Given the description of an element on the screen output the (x, y) to click on. 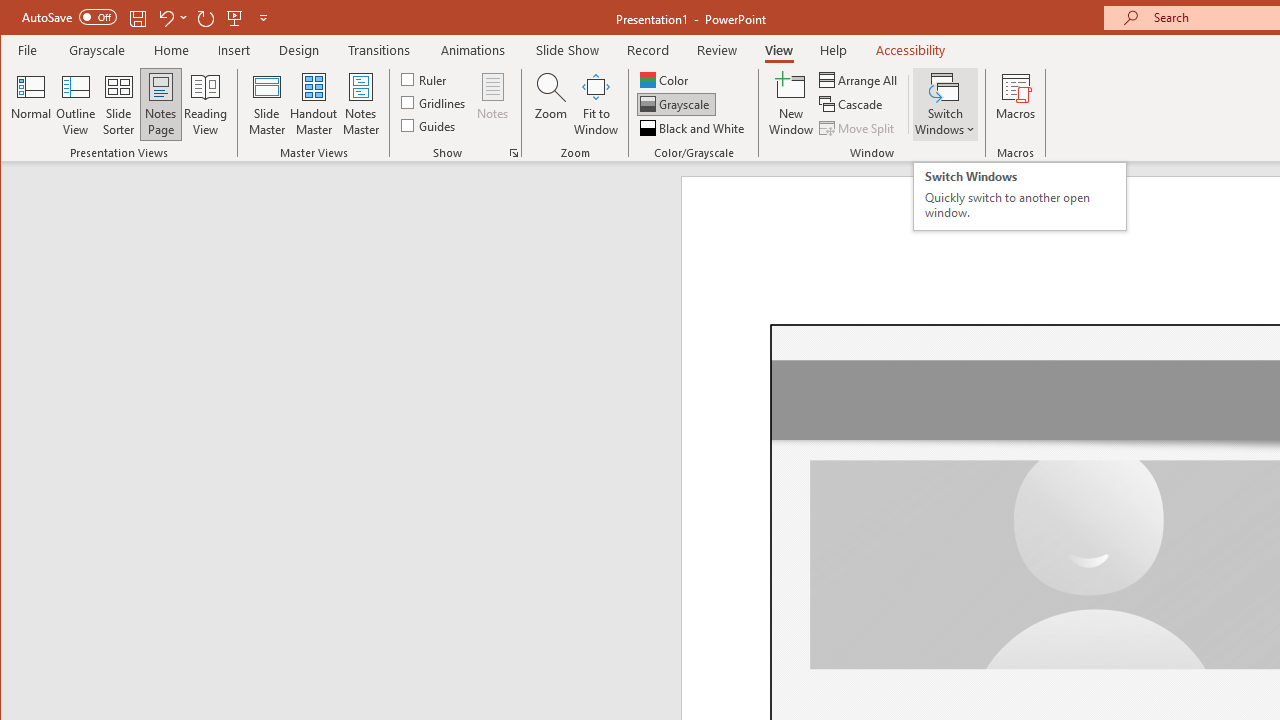
Cascade (852, 103)
Black and White (694, 127)
Gridlines (435, 101)
New Window (791, 104)
Grayscale (97, 50)
Color (666, 80)
